Given the description of an element on the screen output the (x, y) to click on. 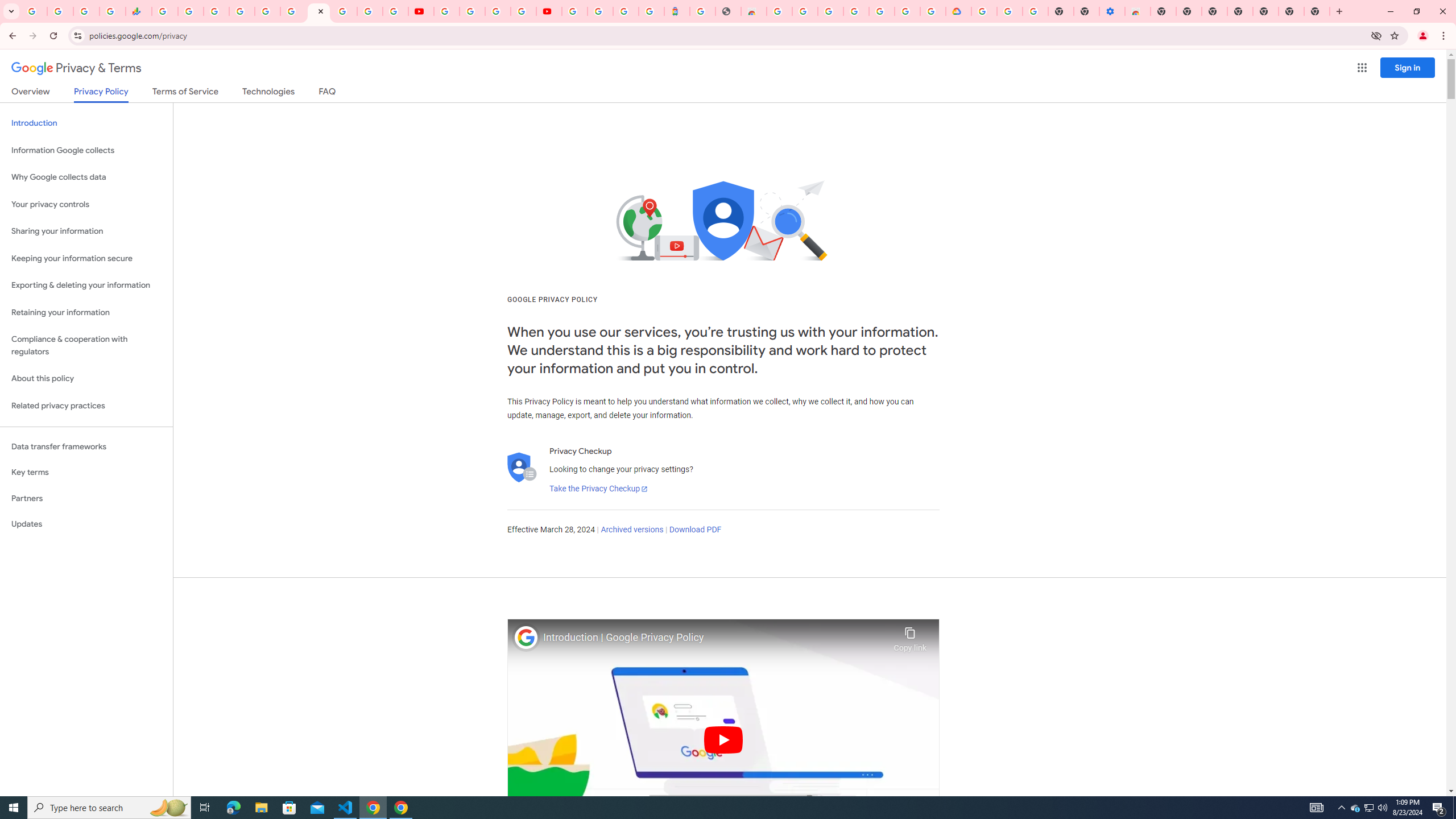
About this policy (86, 379)
Google Account Help (472, 11)
Data transfer frameworks (86, 446)
Sign in - Google Accounts (242, 11)
Turn cookies on or off - Computer - Google Account Help (1034, 11)
